Given the description of an element on the screen output the (x, y) to click on. 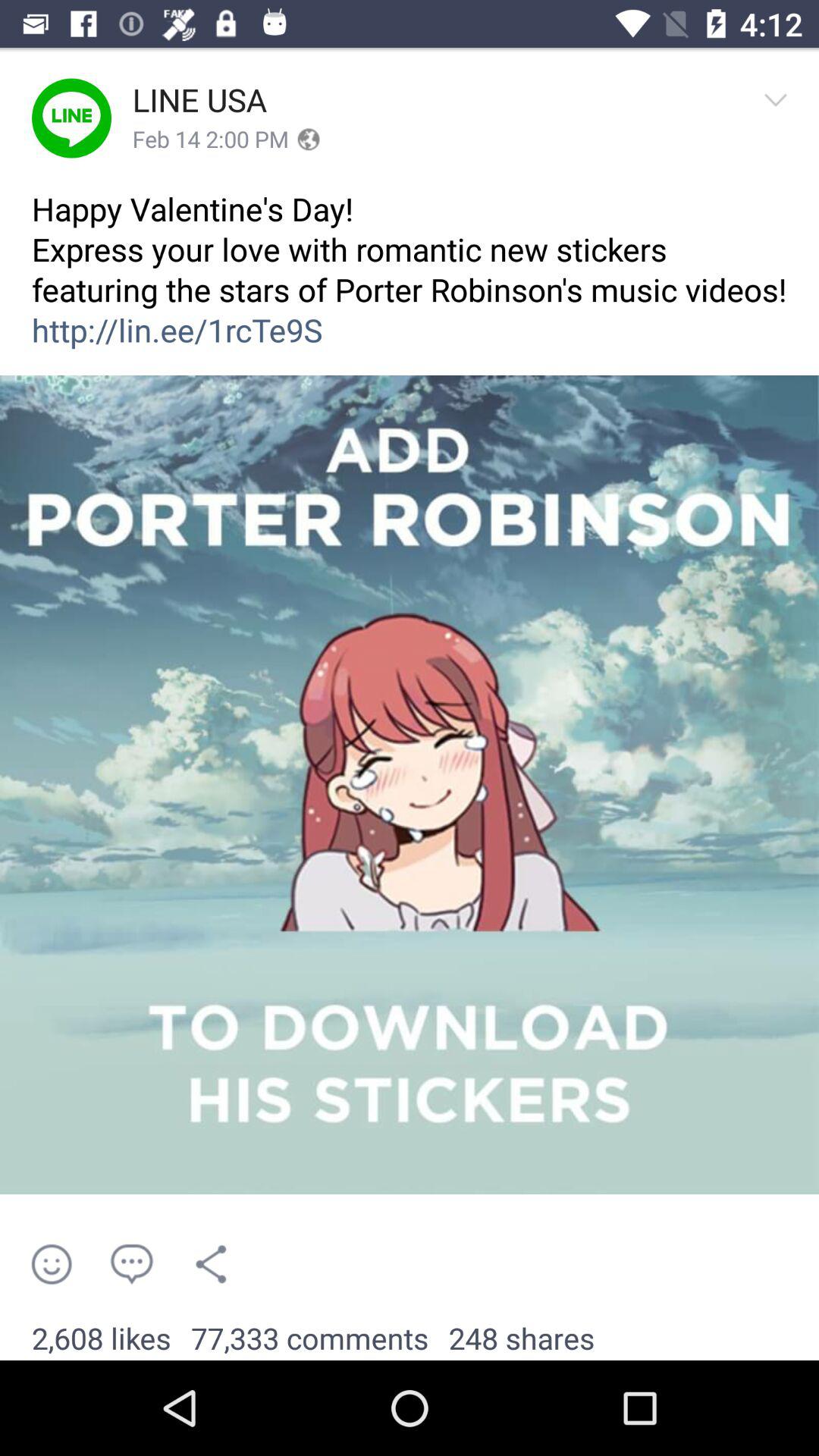
choose the icon below happy valentine s icon (409, 784)
